Given the description of an element on the screen output the (x, y) to click on. 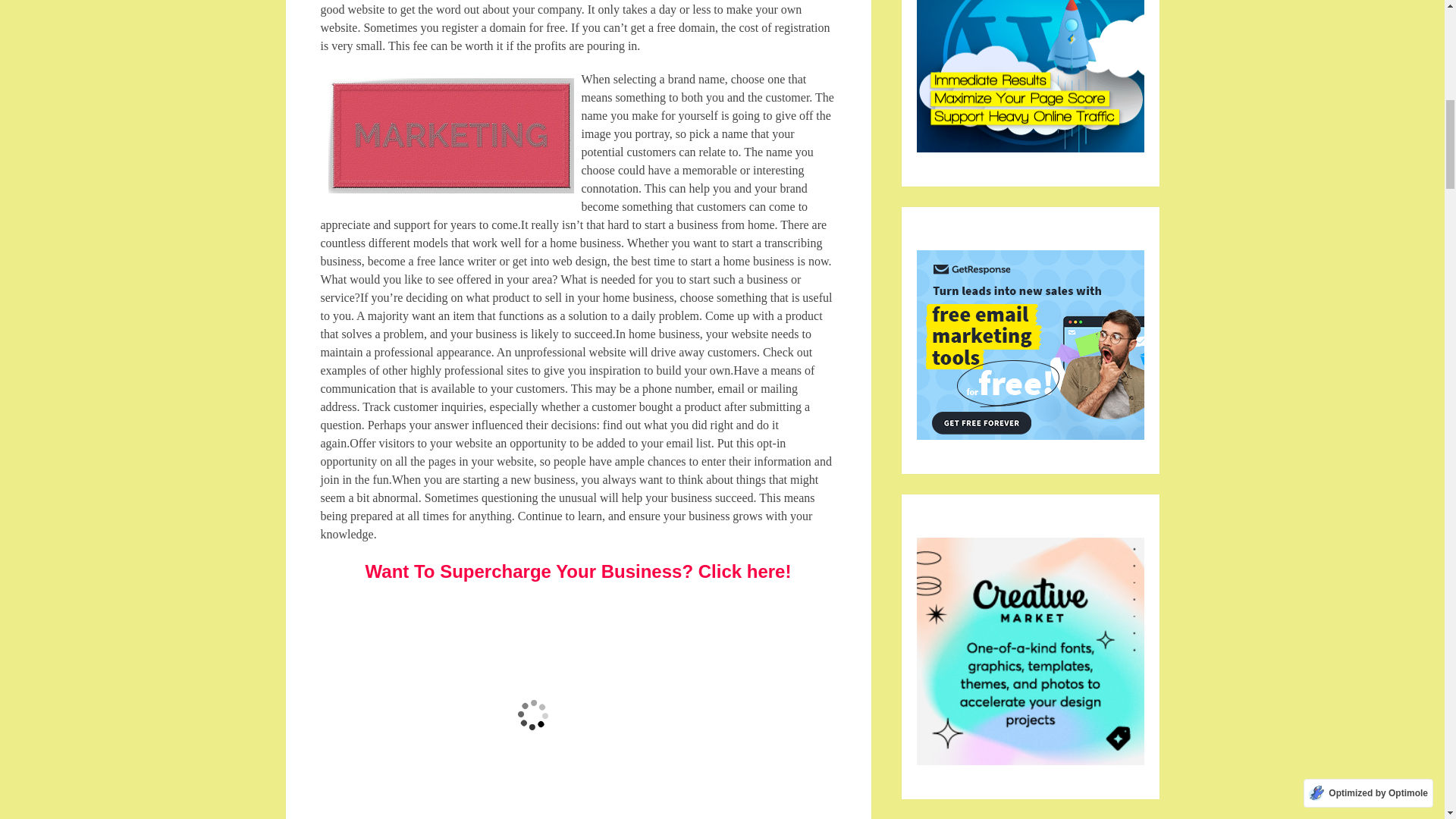
YouTube video player (532, 707)
Want To Supercharge Your Business? Click here! (578, 571)
How To Claim Your Home Office On Your Income Taxes (450, 135)
